Given the description of an element on the screen output the (x, y) to click on. 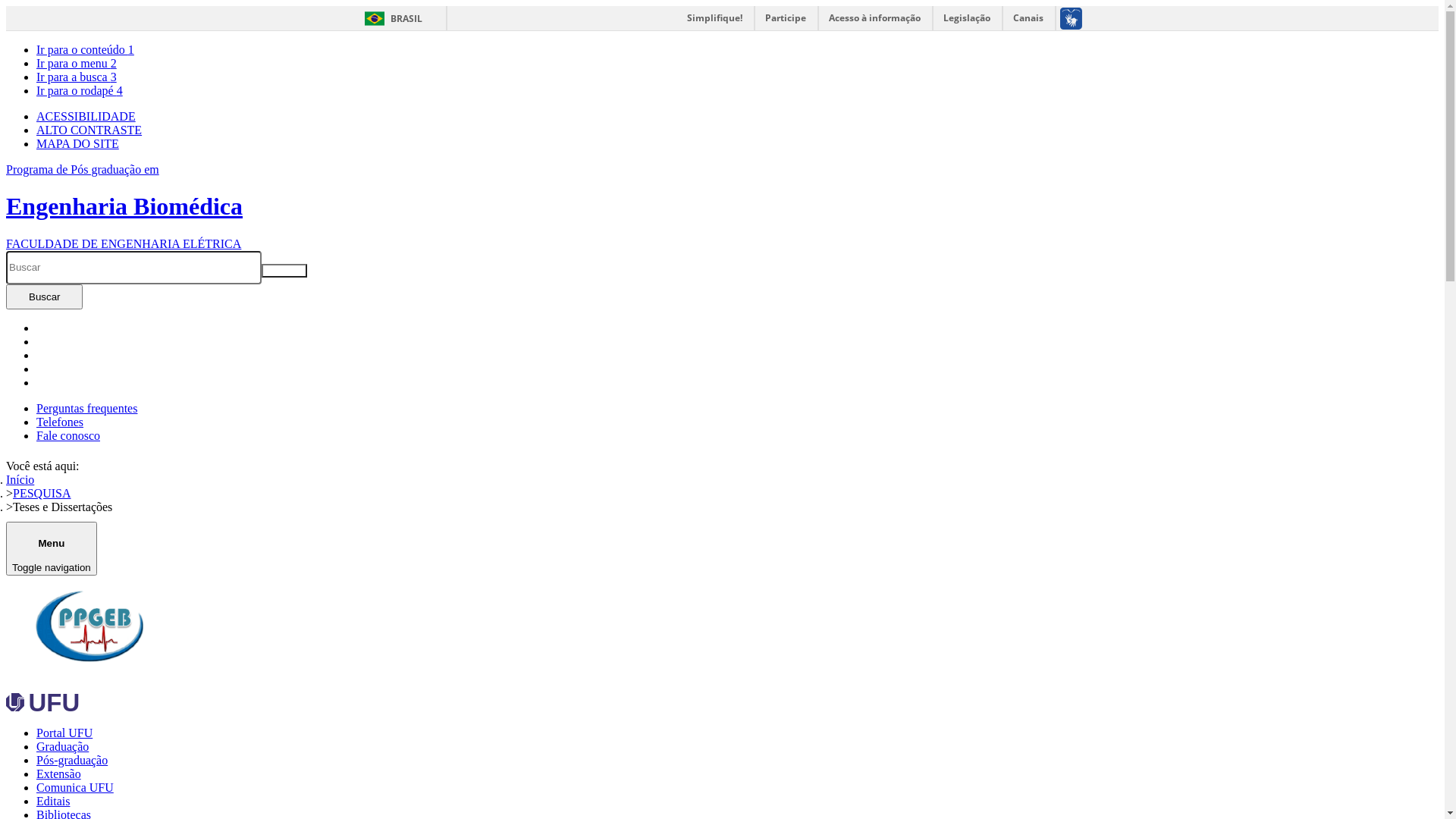
BRASIL Element type: text (389, 18)
ACESSIBILIDADE Element type: text (85, 115)
Comunica UFU Element type: text (74, 787)
Buscar Element type: text (44, 296)
Participe Element type: text (786, 17)
Telefones Element type: text (59, 421)
MAPA DO SITE Element type: text (77, 143)
Editais Element type: text (52, 800)
Menu
Toggle navigation Element type: text (51, 548)
Perguntas frequentes Element type: text (86, 407)
Ir para o menu 2 Element type: text (76, 62)
Portal UFU Element type: text (64, 732)
Fale conosco Element type: text (68, 435)
Ir para a busca 3 Element type: text (76, 76)
Simplifique! Element type: text (714, 17)
PESQUISA Element type: text (41, 492)
Canais Element type: text (1028, 17)
ALTO CONTRASTE Element type: text (88, 129)
